Given the description of an element on the screen output the (x, y) to click on. 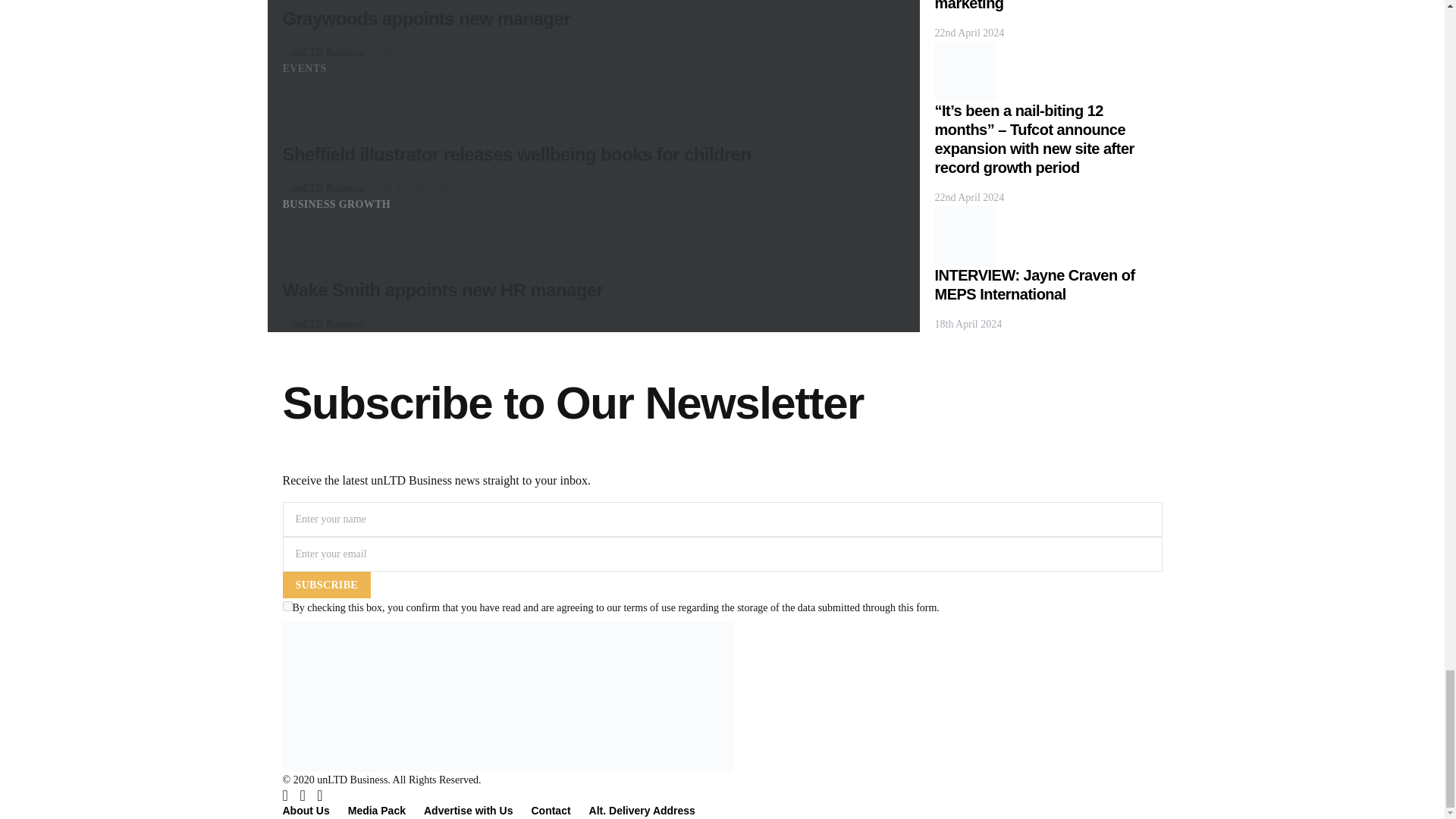
on (287, 605)
View all posts by unLTD Business (327, 324)
View all posts by unLTD Business (327, 188)
View all posts by unLTD Business (327, 52)
